Given the description of an element on the screen output the (x, y) to click on. 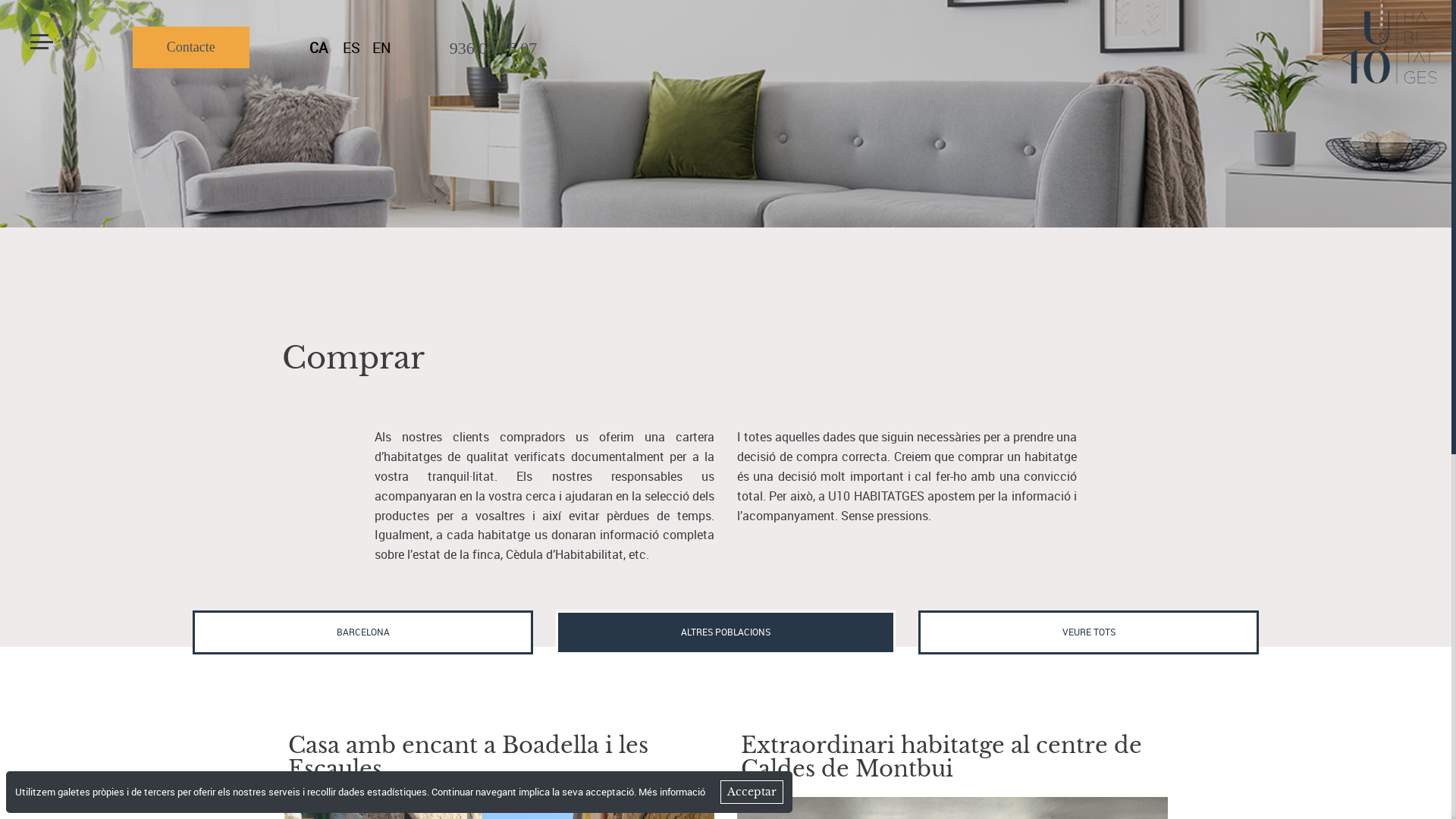
VEURE TOTS Element type: text (1088, 631)
EN Element type: text (381, 47)
936 05 06 07 Element type: text (492, 48)
BARCELONA Element type: text (362, 631)
Contacte Element type: text (190, 47)
ALTRES POBLACIONS Element type: text (725, 631)
ES Element type: text (351, 47)
Extraordinari habitatge al centre de Caldes de Montbui Element type: text (941, 757)
Casa amb encant a Boadella i les Escaules Element type: text (468, 757)
